Given the description of an element on the screen output the (x, y) to click on. 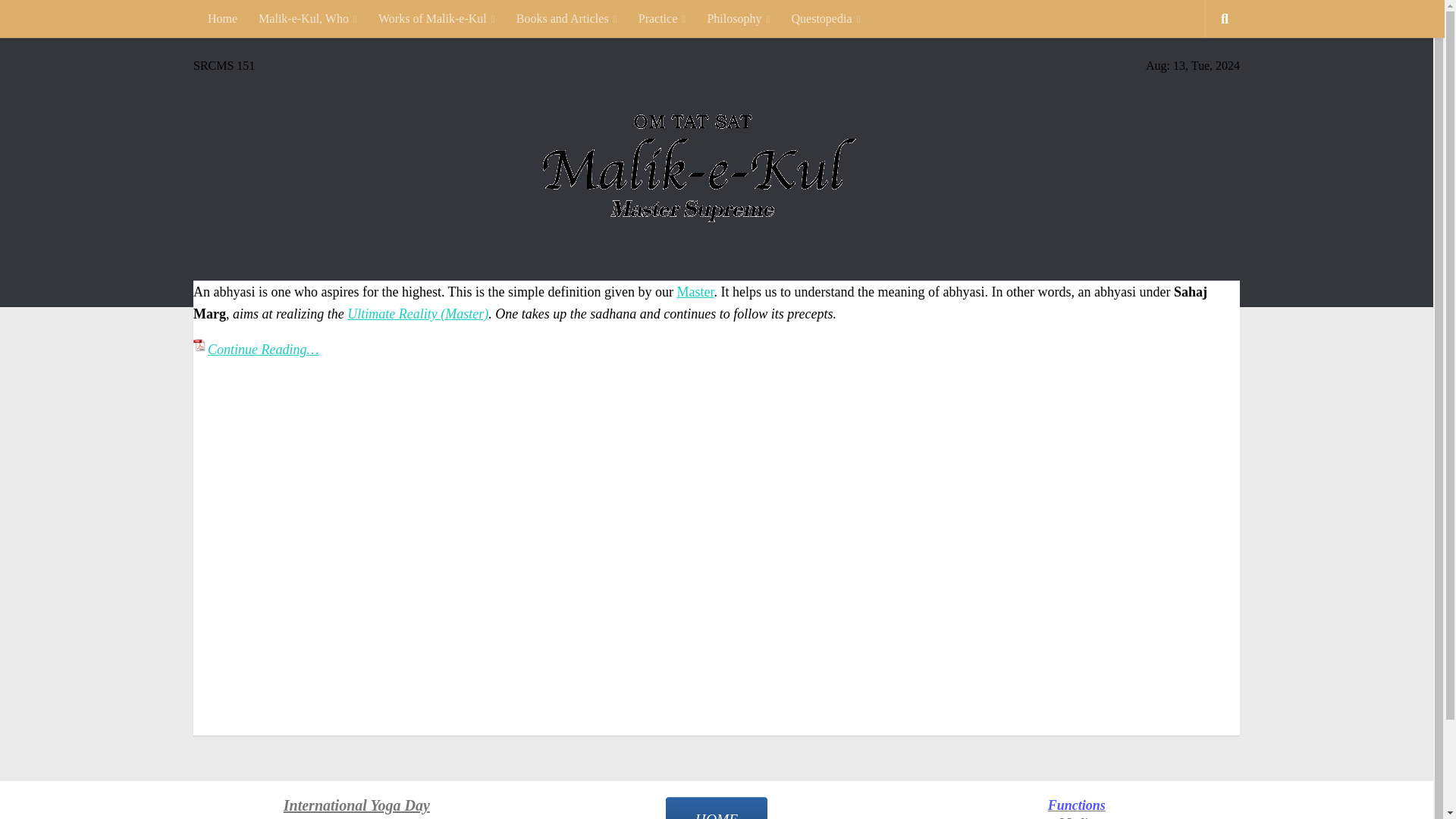
Home (221, 18)
Shri Ram Chandra Mission Samvat (223, 65)
Malik-e-Kul, Who (307, 18)
Malik-e-Kul (716, 299)
Works of Malik-e-Kul (436, 18)
